Given the description of an element on the screen output the (x, y) to click on. 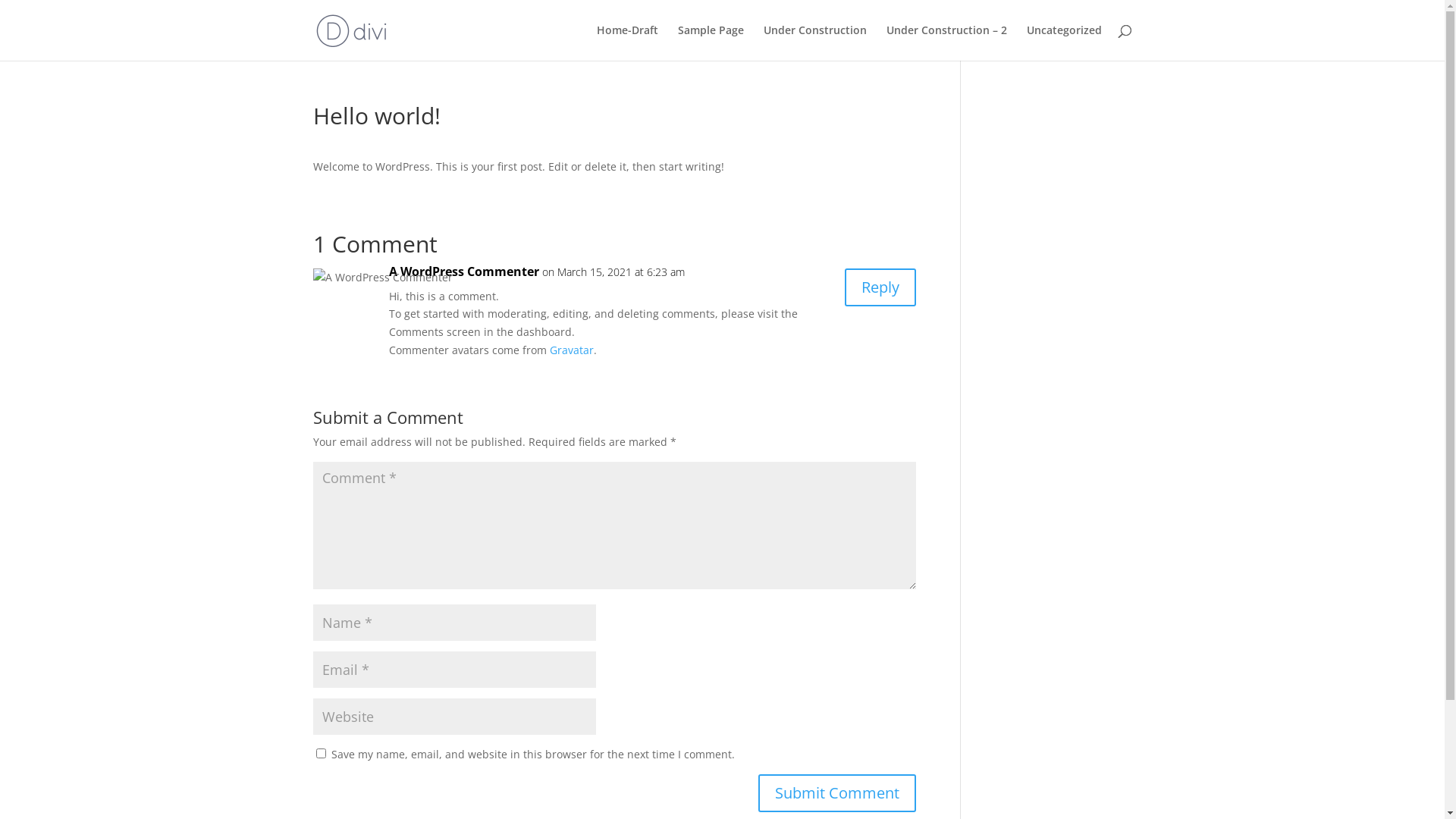
Submit Comment Element type: text (837, 793)
Gravatar Element type: text (571, 349)
Home-Draft Element type: text (626, 42)
Uncategorized Element type: text (1063, 42)
Reply Element type: text (880, 287)
A WordPress Commenter Element type: text (463, 272)
Sample Page Element type: text (710, 42)
Under Construction Element type: text (814, 42)
